Given the description of an element on the screen output the (x, y) to click on. 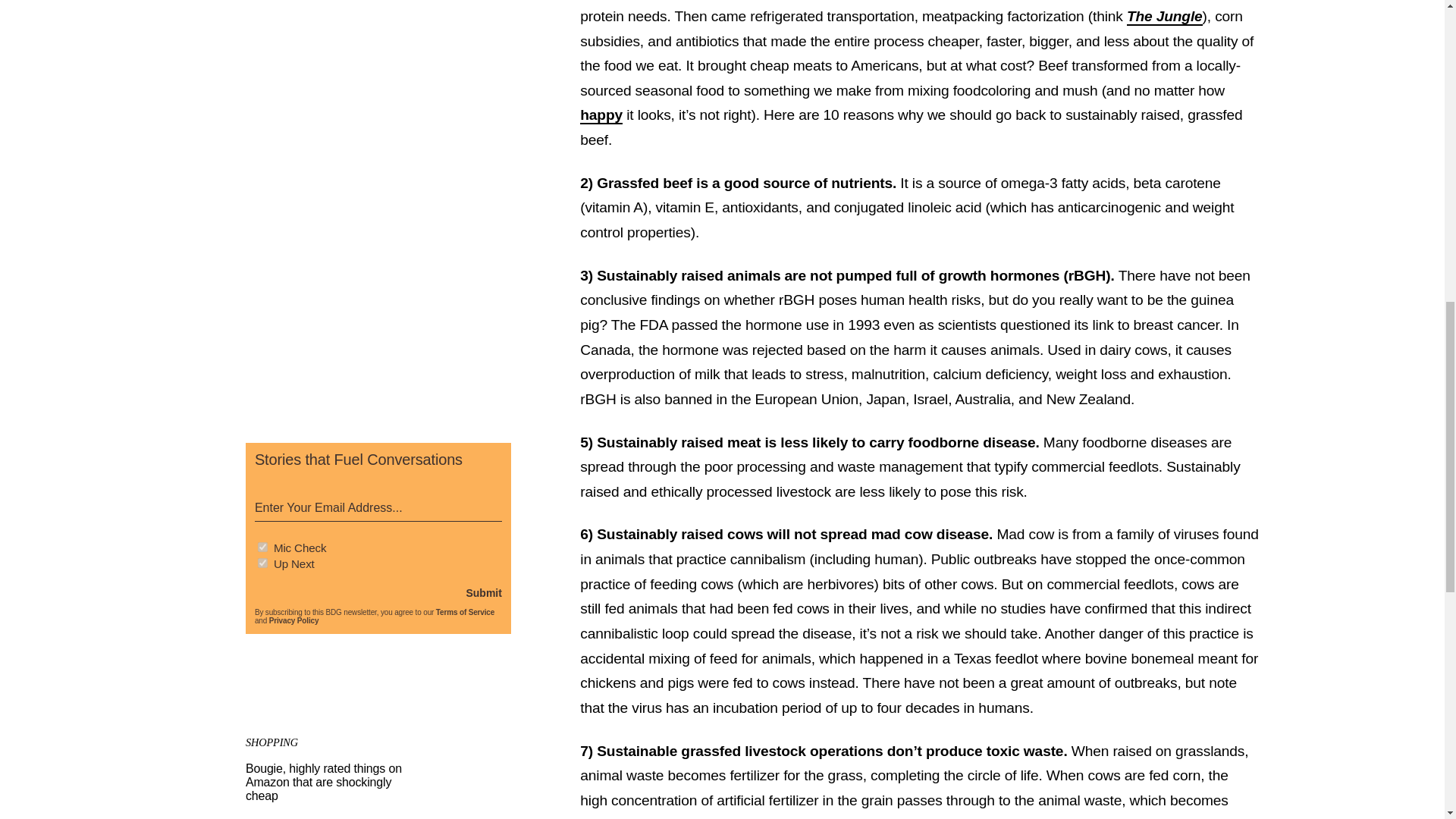
Terms of Service (465, 612)
The Jungle (1164, 16)
Submit (482, 592)
happy (601, 115)
Privacy Policy (293, 620)
